Given the description of an element on the screen output the (x, y) to click on. 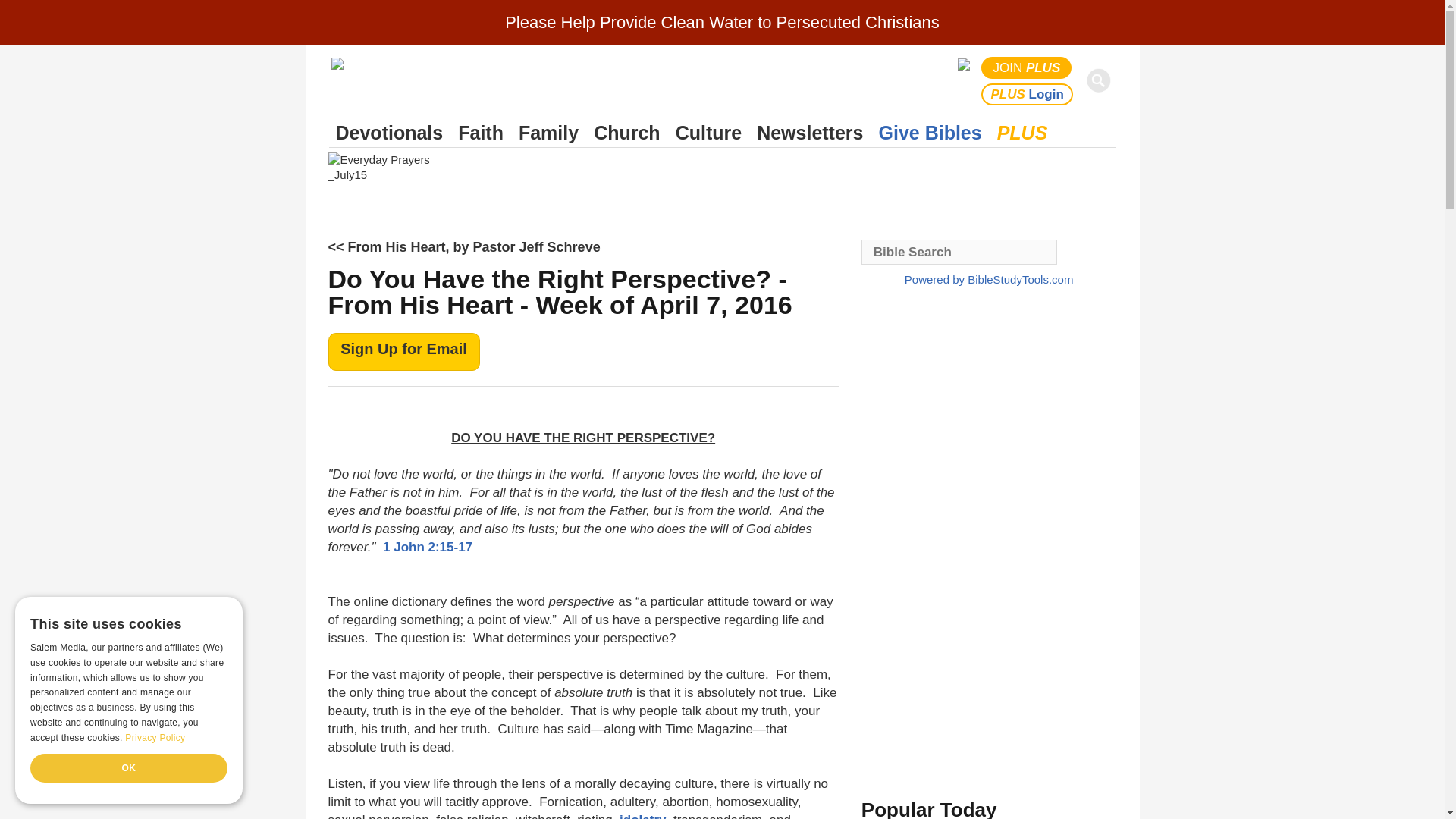
Devotionals (389, 132)
Search (1101, 80)
PLUS Login (1026, 94)
JOIN PLUS (1026, 67)
Join Plus (1026, 67)
Plus Login (1026, 94)
